Given the description of an element on the screen output the (x, y) to click on. 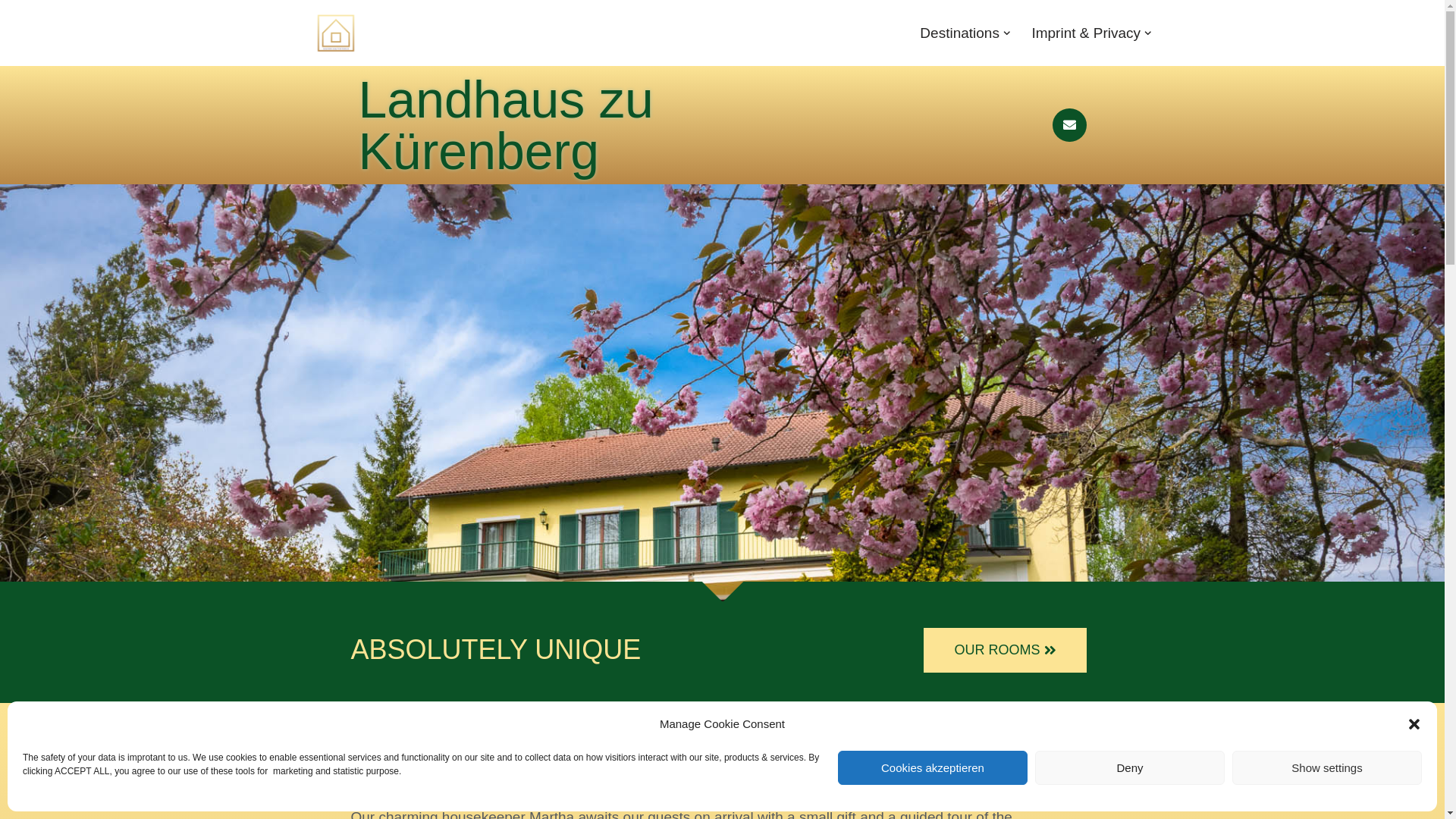
Skip to content Element type: text (11, 31)
Destinations Element type: text (959, 32)
Show settings Element type: text (1326, 767)
Imprint & Privacy Element type: text (1085, 32)
Deny Element type: text (1129, 767)
OUR ROOMS Element type: text (1004, 649)
Cookies akzeptieren Element type: text (932, 767)
